Given the description of an element on the screen output the (x, y) to click on. 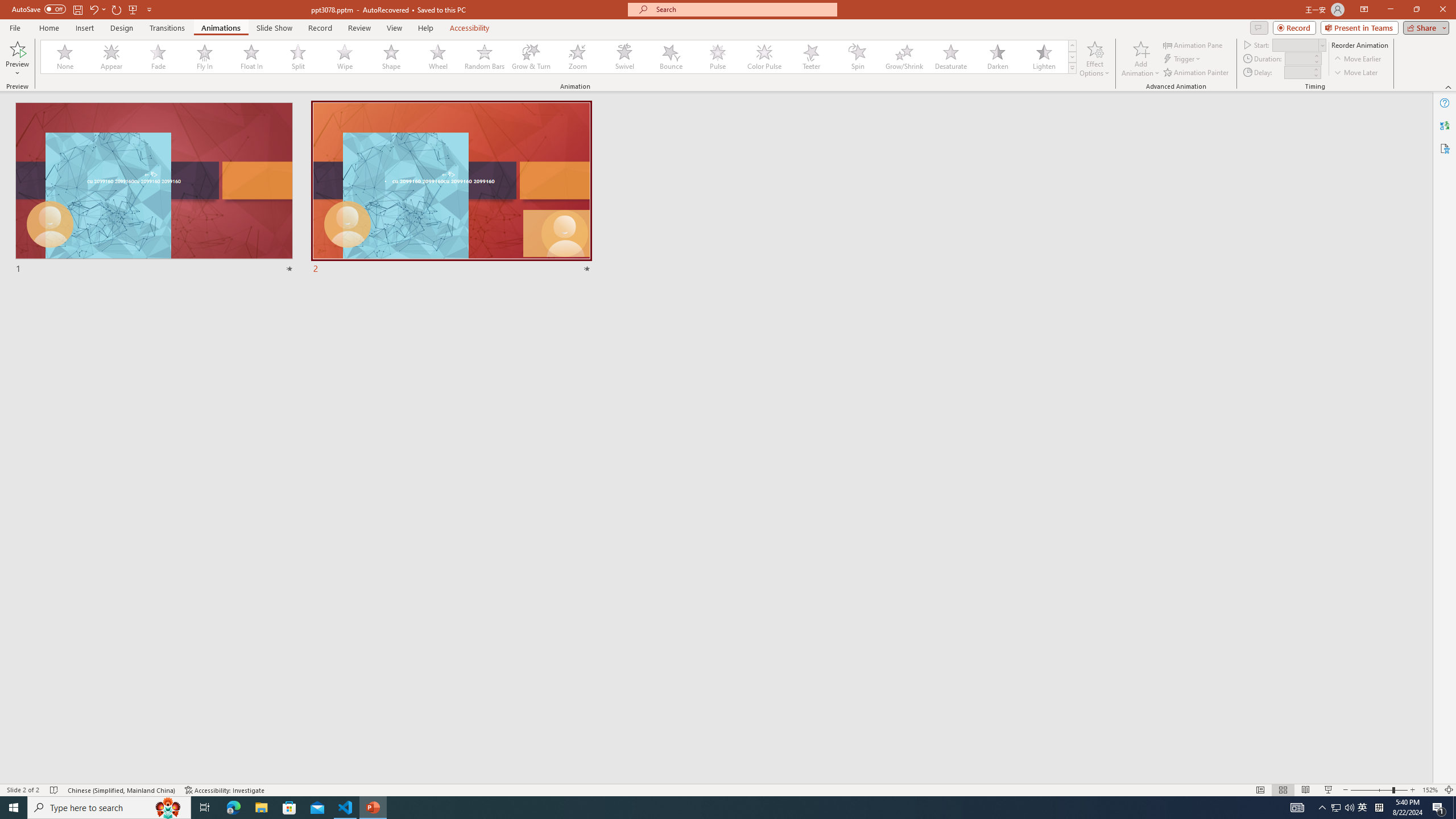
Wheel (437, 56)
Trigger (1182, 58)
Animation Delay (1297, 72)
Split (298, 56)
Float In (251, 56)
Appear (111, 56)
Grow/Shrink (903, 56)
Shape (391, 56)
